Given the description of an element on the screen output the (x, y) to click on. 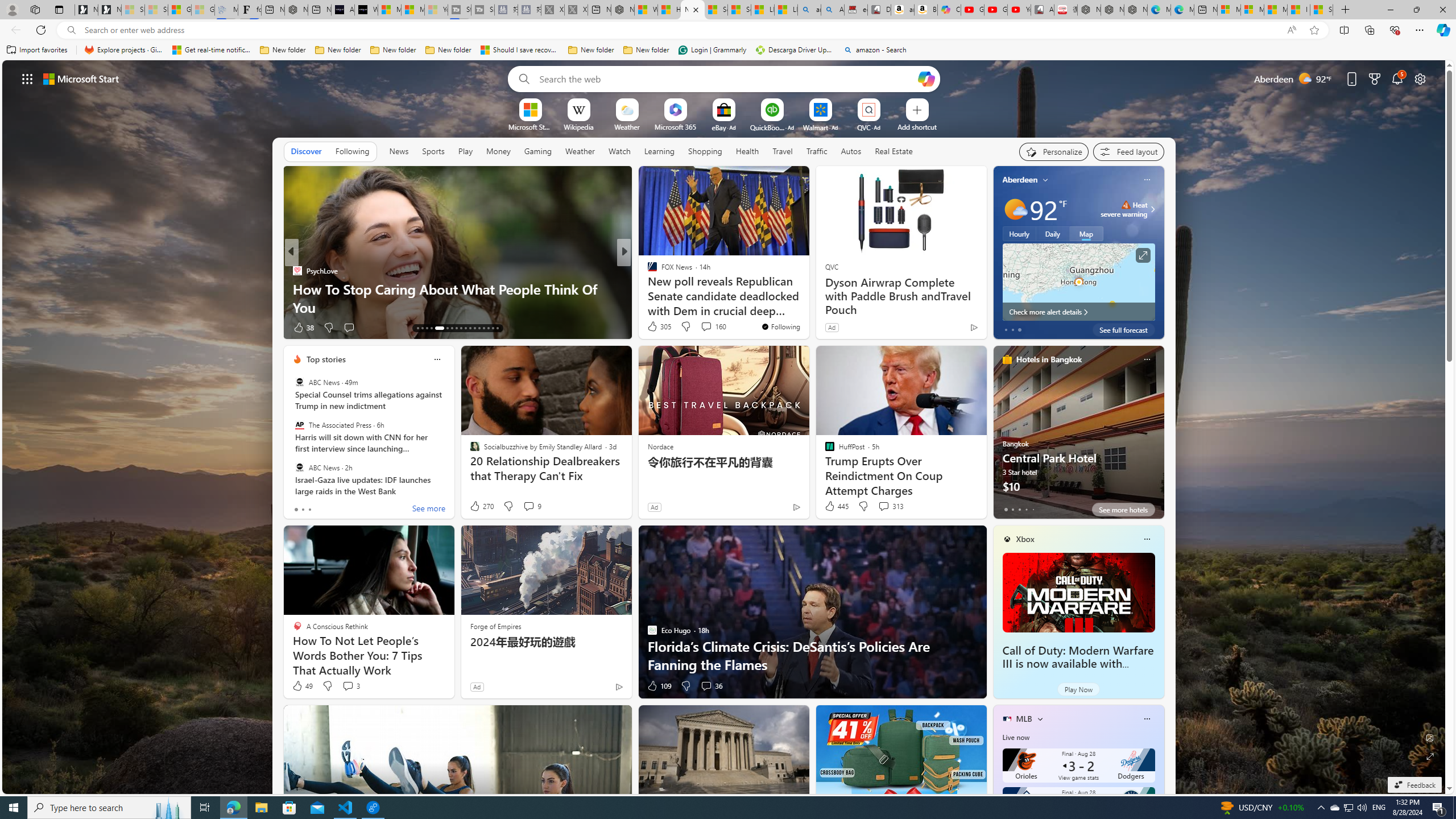
Washington Examiner (647, 270)
Hourly (1018, 233)
Copilot (949, 9)
Tom's Guide (647, 288)
View comments 160 Comment (705, 326)
View comments 26 Comment (698, 327)
445 Like (835, 505)
Heat - Severe Heat severe warning (1123, 208)
